Given the description of an element on the screen output the (x, y) to click on. 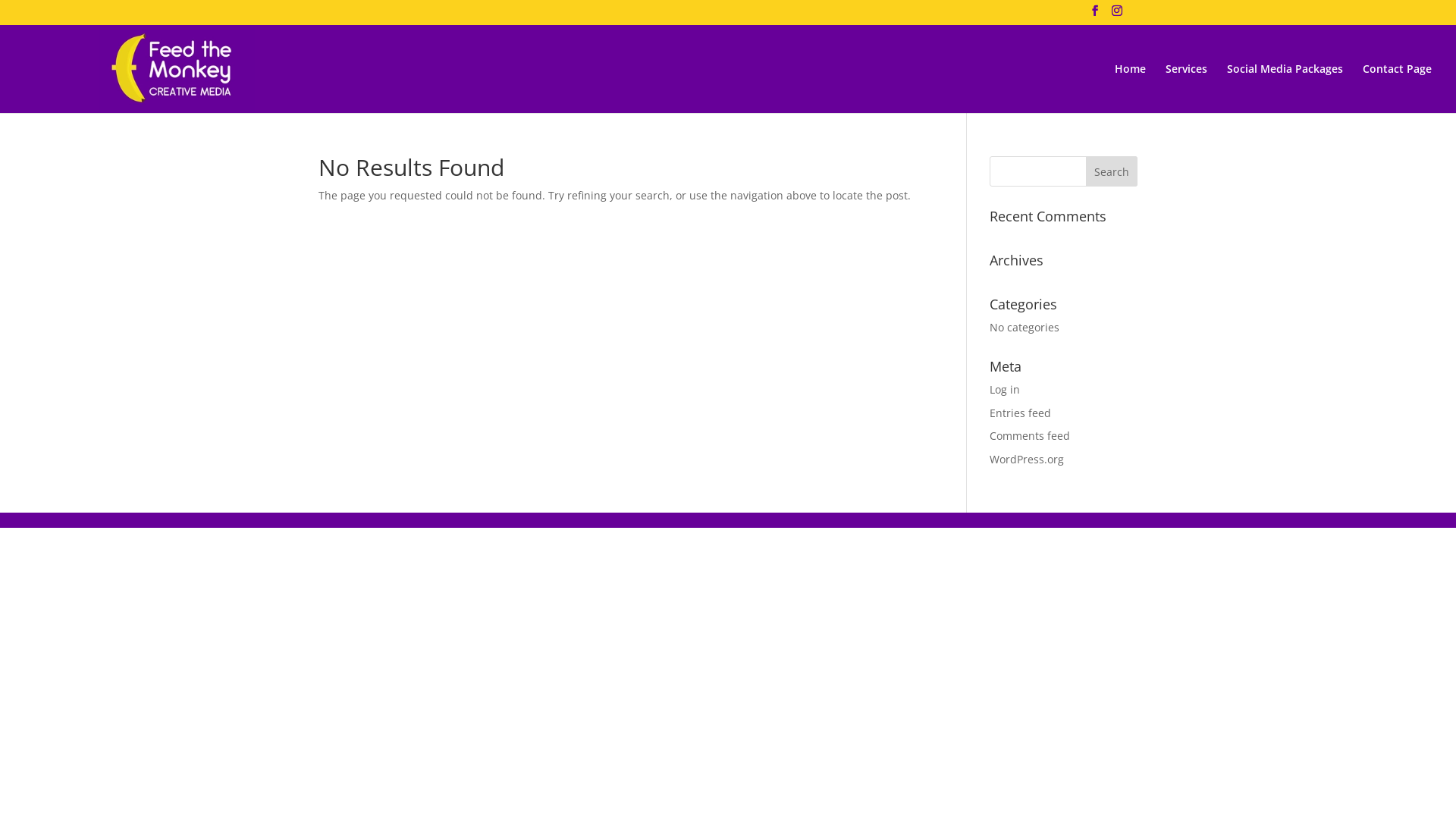
Social Media Packages Element type: text (1284, 87)
Home Element type: text (1129, 87)
Entries feed Element type: text (1020, 412)
Services Element type: text (1186, 87)
Search Element type: text (1111, 171)
Log in Element type: text (1004, 389)
Comments feed Element type: text (1029, 435)
WordPress.org Element type: text (1026, 458)
Contact Page Element type: text (1396, 87)
